Given the description of an element on the screen output the (x, y) to click on. 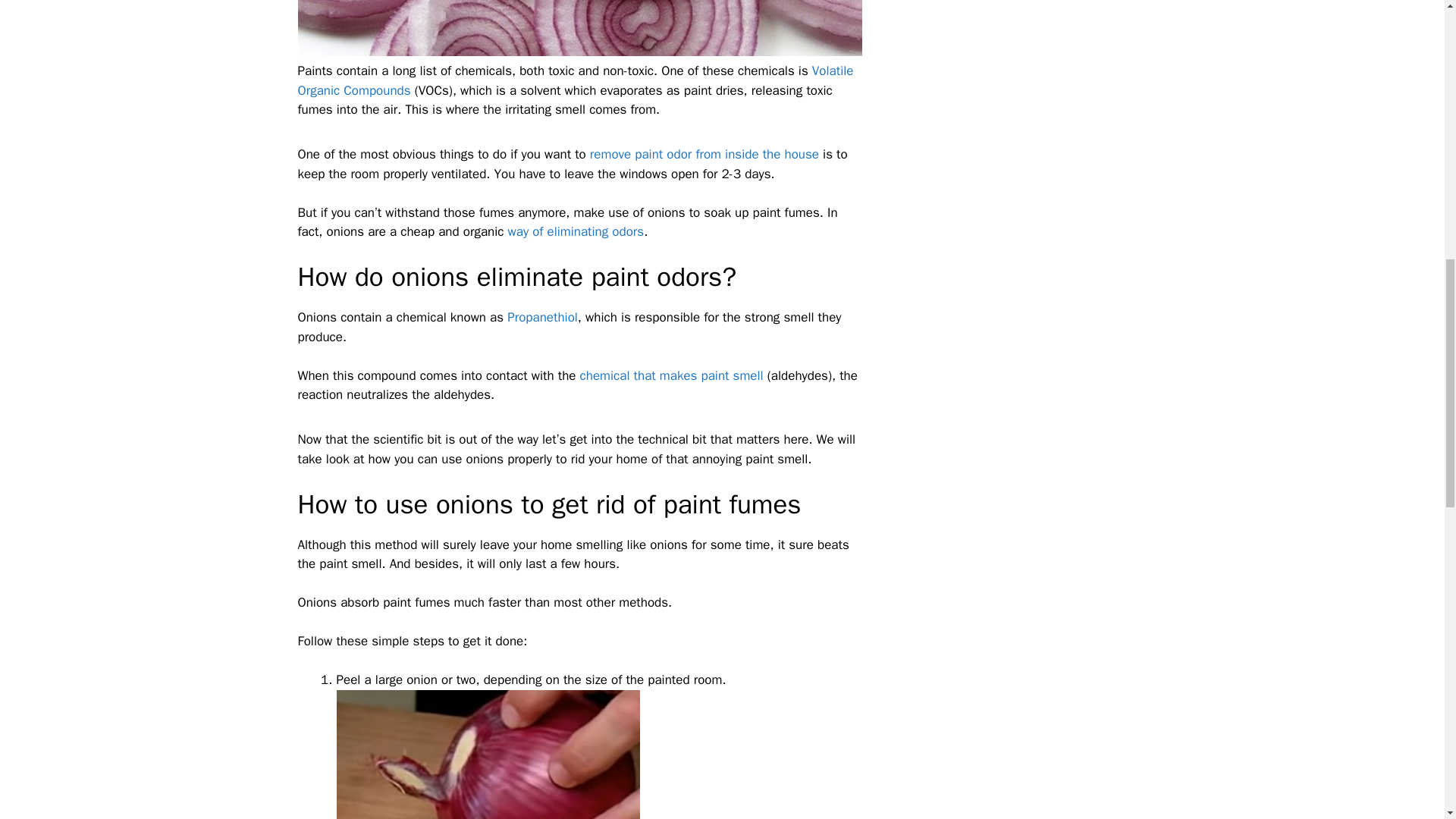
Volatile Organic Compounds (575, 80)
Scroll back to top (1406, 720)
way of eliminating odors (576, 231)
chemical that makes paint smell (670, 375)
Propanethiol (542, 317)
remove paint odor from inside the house (703, 154)
